Given the description of an element on the screen output the (x, y) to click on. 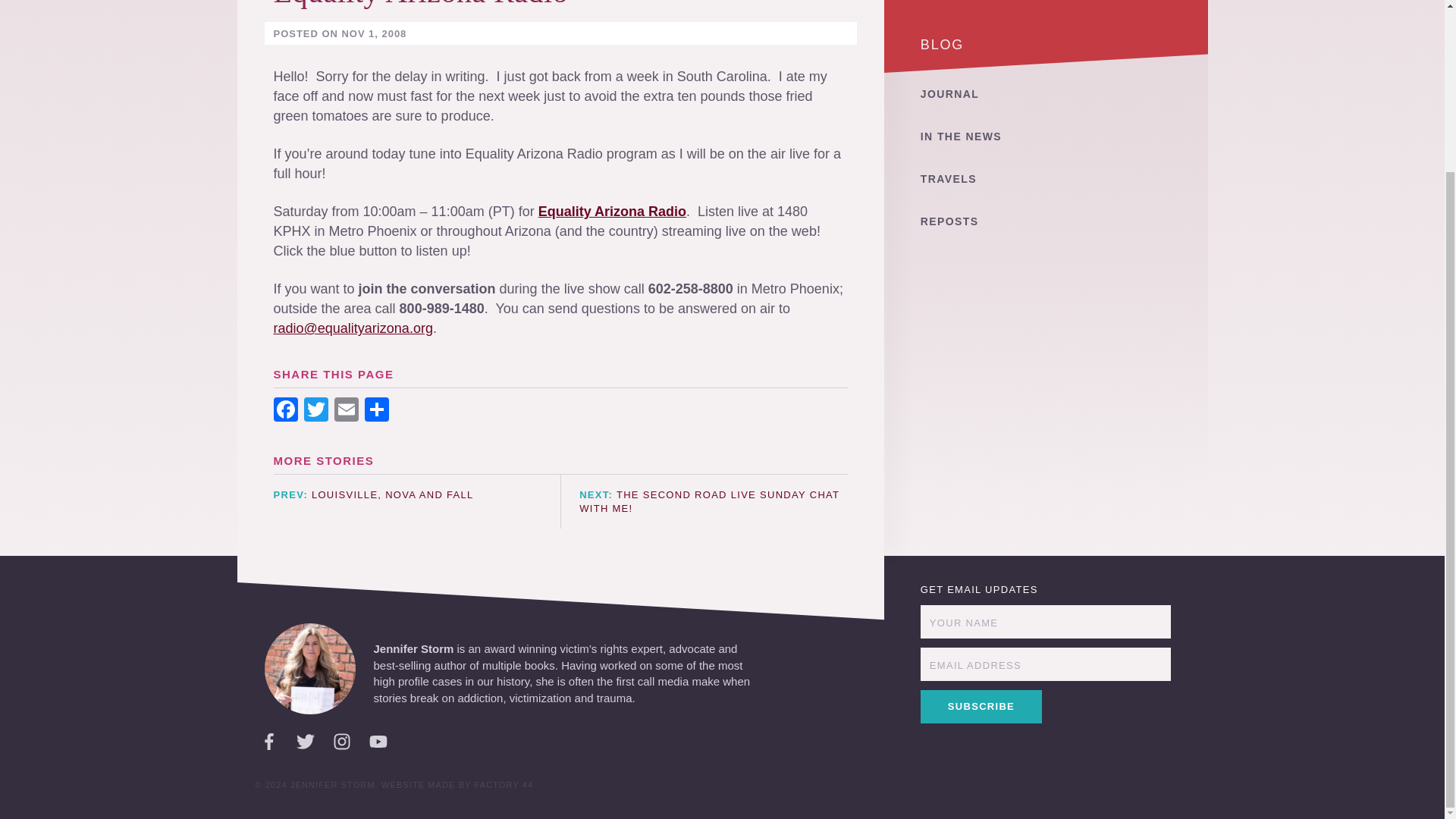
Twitter (314, 411)
Radio (665, 211)
Facebook (284, 411)
Like me on Facebook (268, 741)
Follow me on Twitter (304, 741)
Follow me on Instagram (341, 741)
Email (345, 411)
IN THE NEWS (1045, 65)
Email (345, 411)
Facebook (284, 411)
Watch me on YouTube (377, 741)
JOURNAL (1045, 23)
REPOSTS (1045, 150)
Equality Arizona (591, 211)
